Given the description of an element on the screen output the (x, y) to click on. 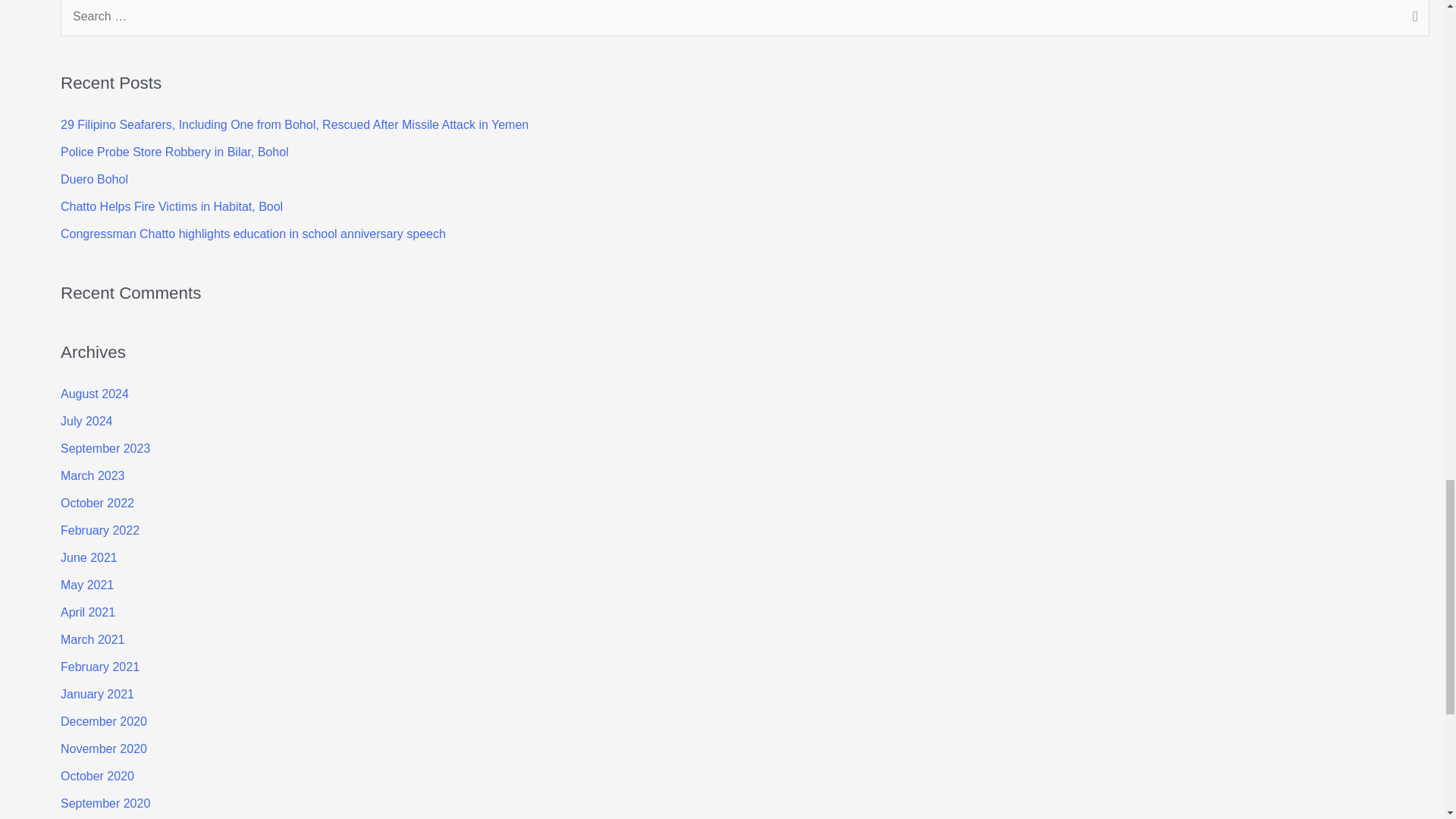
February 2021 (100, 666)
January 2021 (97, 694)
November 2020 (104, 748)
September 2023 (105, 448)
June 2021 (89, 557)
Police Probe Store Robbery in Bilar, Bohol (174, 151)
March 2021 (93, 639)
March 2023 (93, 475)
July 2024 (87, 420)
